Given the description of an element on the screen output the (x, y) to click on. 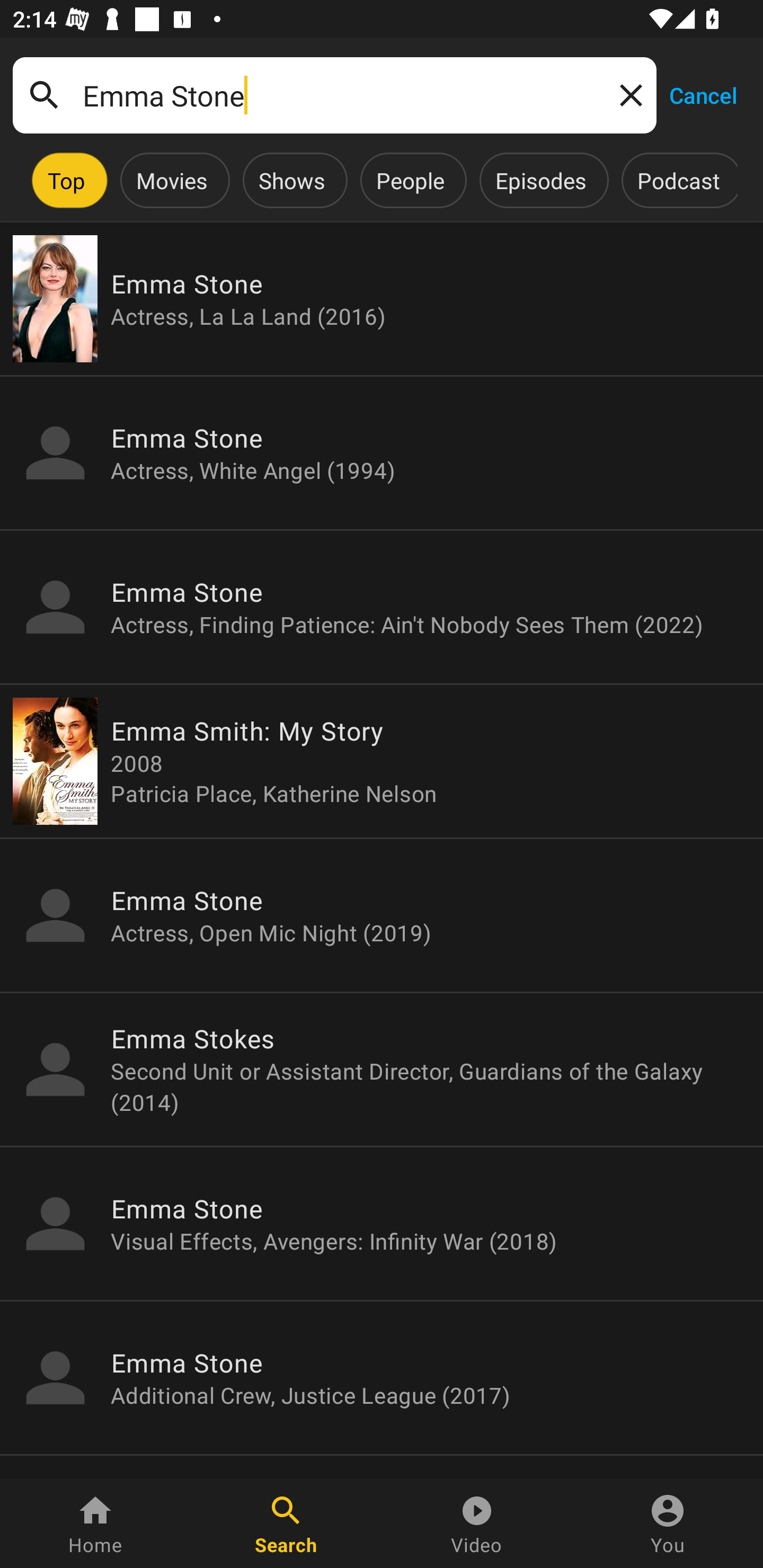
Clear query (627, 94)
Cancel (703, 94)
Emma Stone (334, 95)
Top (66, 180)
Movies (171, 180)
Shows (291, 180)
People (410, 180)
Episodes (540, 180)
Podcast (678, 180)
Emma Stone Actress, La La Land (2016) (381, 298)
Emma Stone Actress, White Angel (1994) (381, 452)
Emma Stone Actress, Open Mic Night (2019) (381, 914)
Emma Stone Additional Crew, Justice League (2017) (381, 1377)
Home (95, 1523)
Video (476, 1523)
You (667, 1523)
